Given the description of an element on the screen output the (x, y) to click on. 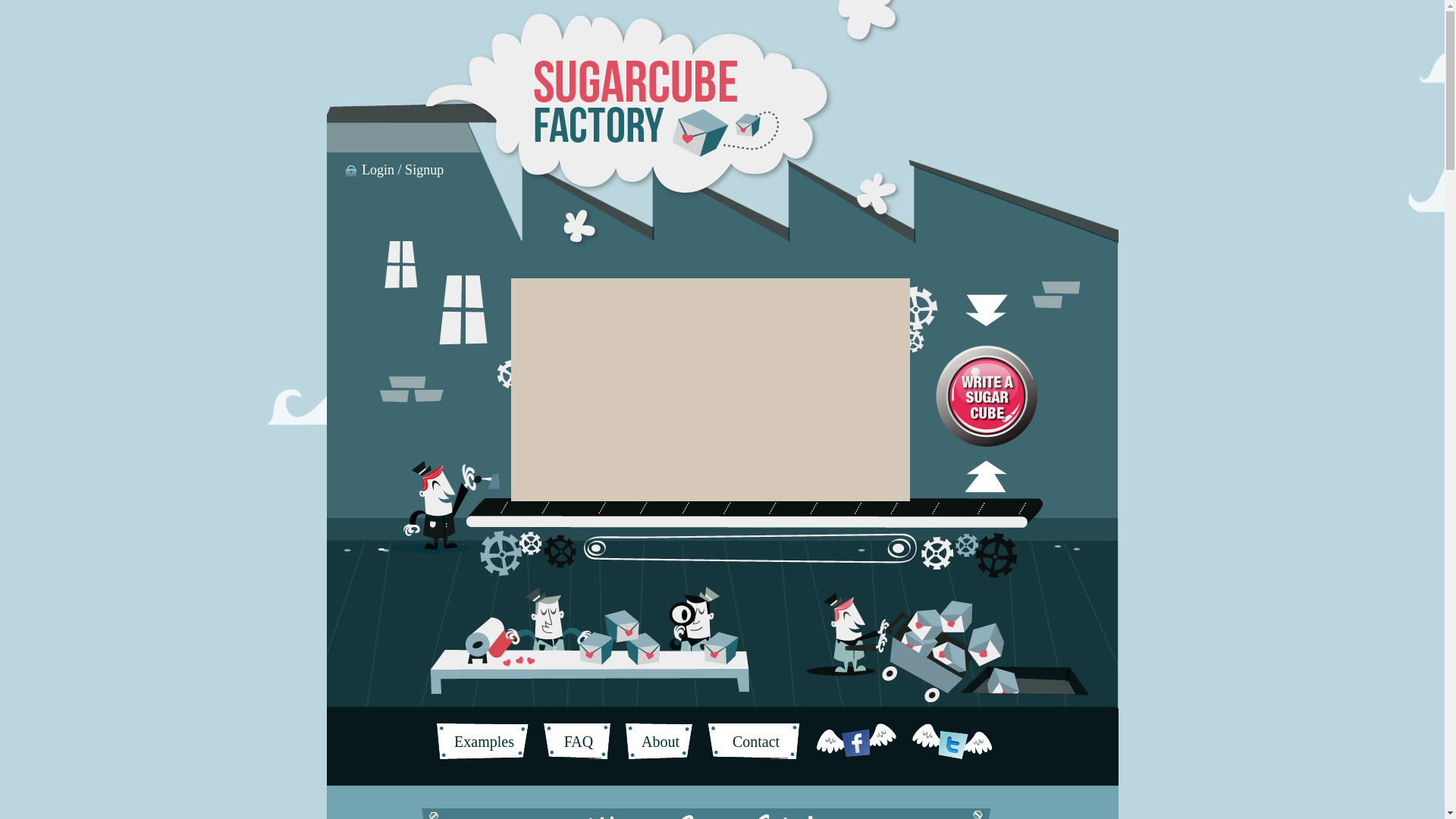
Examples (483, 741)
FAQ (577, 741)
Contact (756, 741)
The Sugar Cube Factory Facebook Page (857, 741)
The Sugar Cube Factory Twitter Page (953, 741)
About (660, 741)
